Given the description of an element on the screen output the (x, y) to click on. 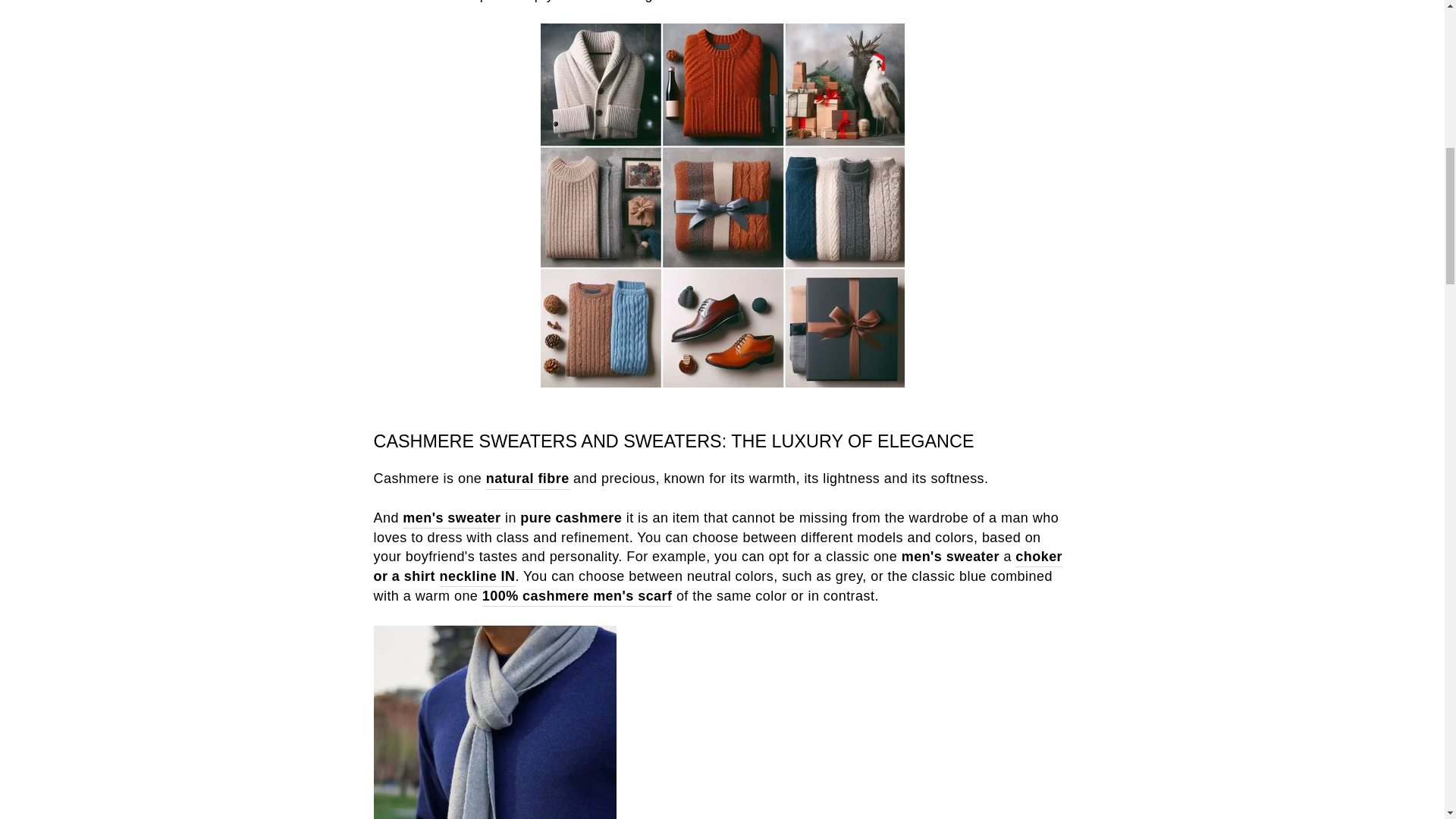
Maglia uomo puro cashmere scollo a v (467, 577)
Sciarpa uomo puro cashmere (576, 596)
Maglia uomo girocollo puro cashmere (1038, 557)
Maglia uomo puro cashmere scollo a v (505, 577)
Differenze tra fibre naturali, sintetiche e artificiali (527, 478)
